Given the description of an element on the screen output the (x, y) to click on. 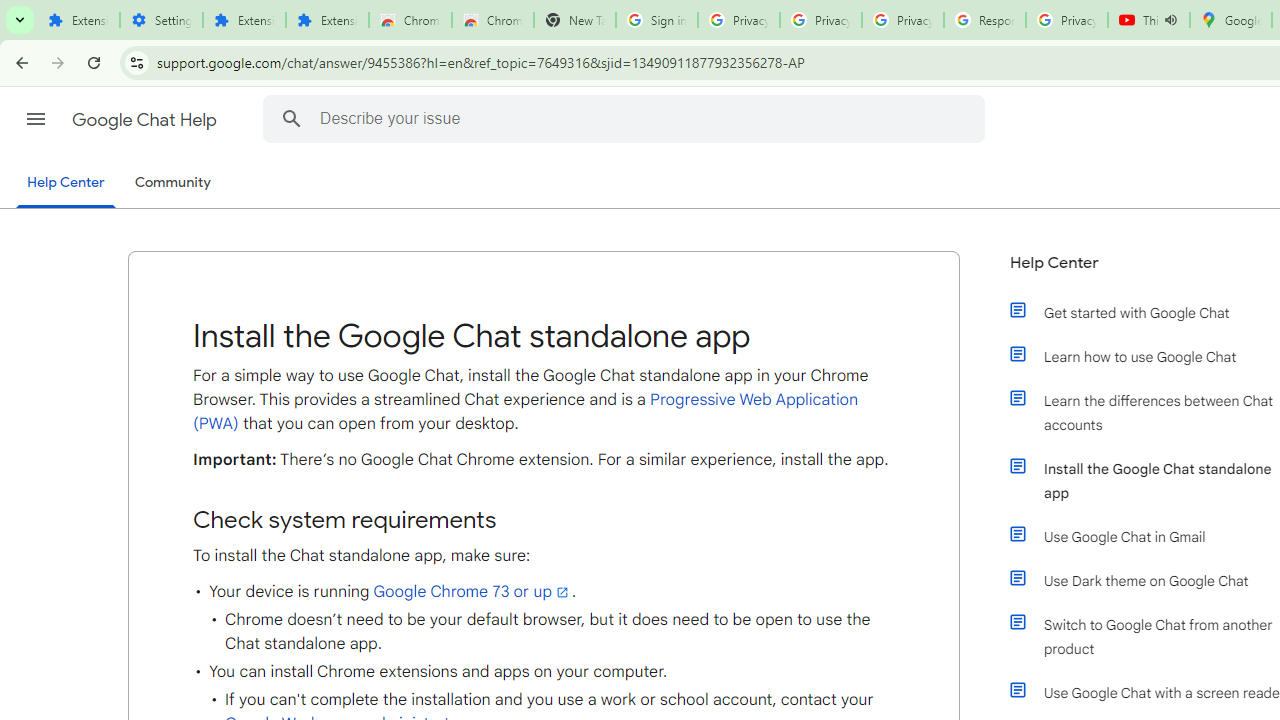
Community (171, 183)
